Given the description of an element on the screen output the (x, y) to click on. 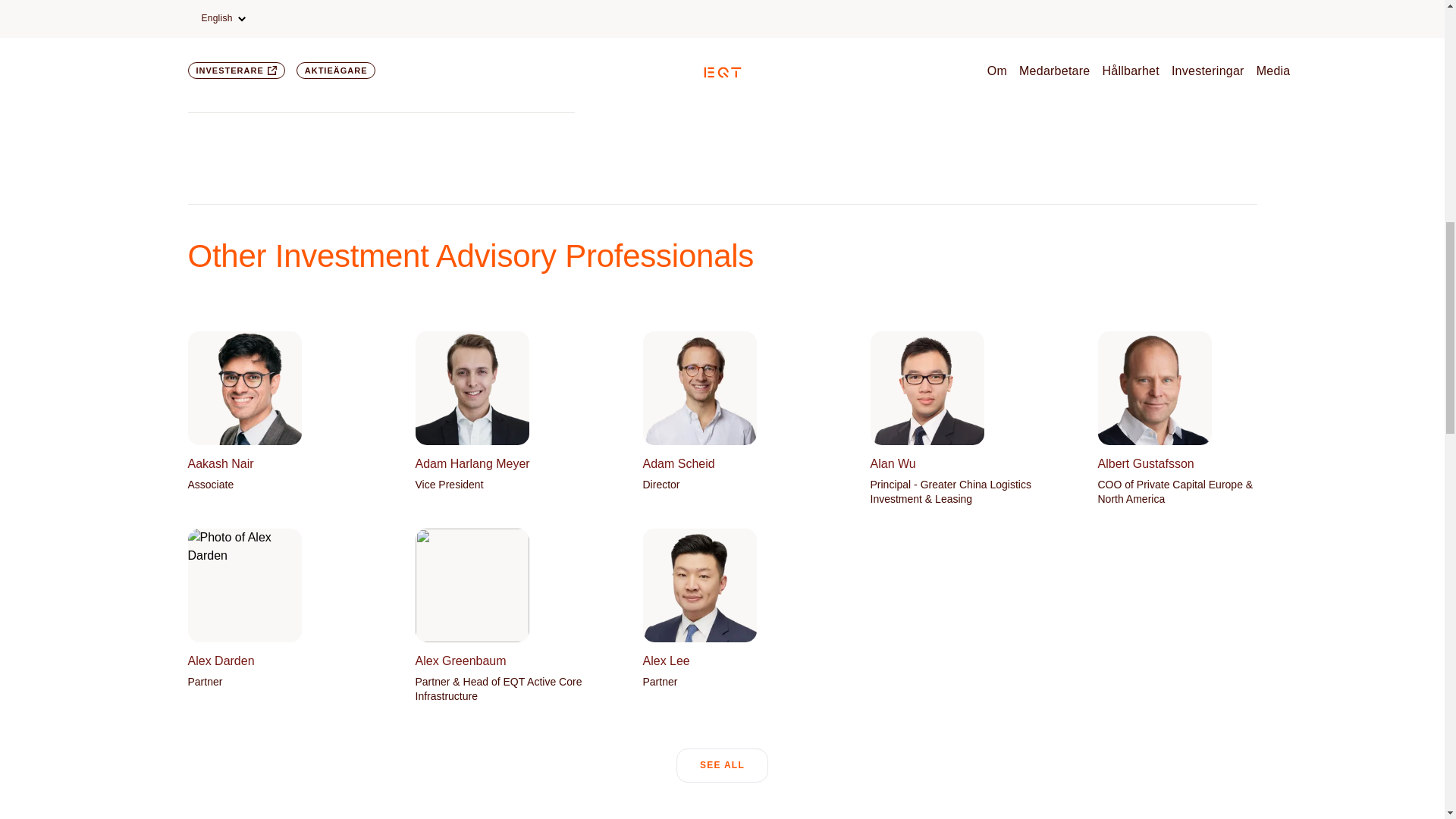
SEE ALL (722, 765)
